Given the description of an element on the screen output the (x, y) to click on. 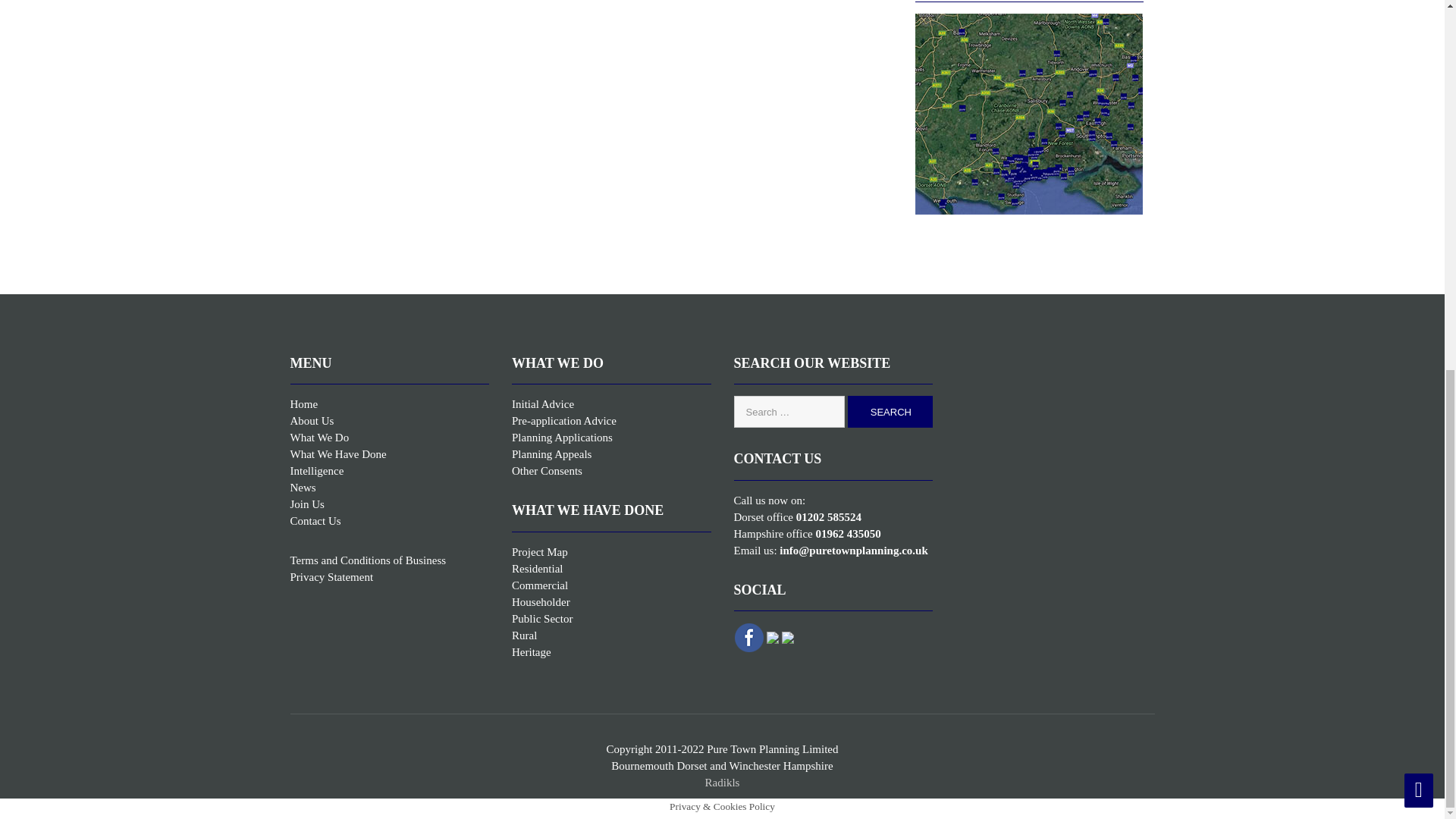
Join Us (306, 503)
Contact Us (314, 521)
Intelligence (316, 470)
Search (890, 411)
About Us (311, 420)
What We Do (319, 437)
Search (890, 411)
Home (303, 404)
What We Have Done (337, 453)
News (302, 487)
